Given the description of an element on the screen output the (x, y) to click on. 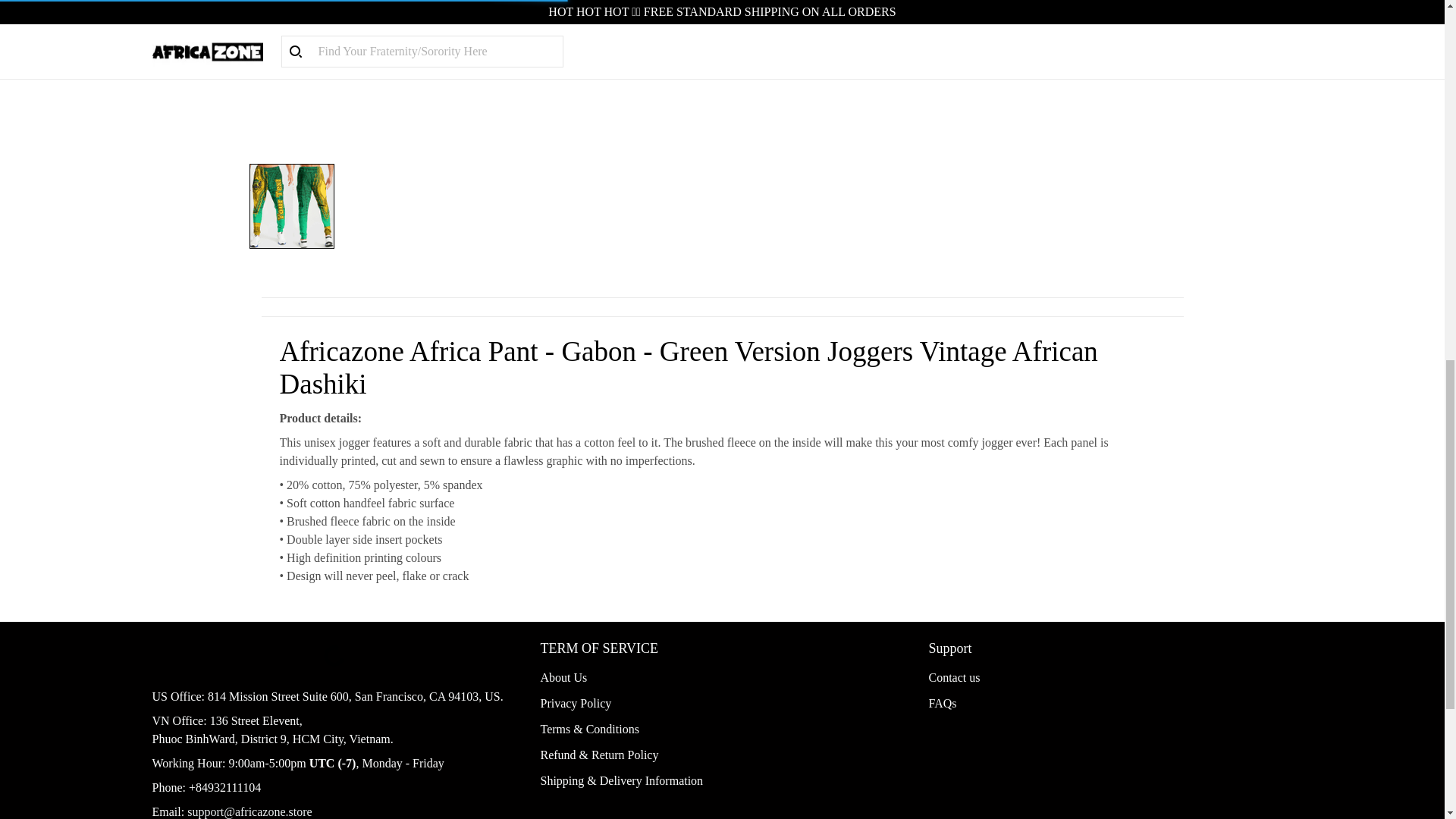
Share on Twitter (900, 39)
Pin it (959, 39)
Share on Facebook (841, 39)
Contact us (953, 676)
Privacy Policy (575, 703)
About Us (563, 676)
Tweet (900, 39)
Pin on Pinterest (959, 39)
FAQs (942, 703)
Share (841, 39)
